Given the description of an element on the screen output the (x, y) to click on. 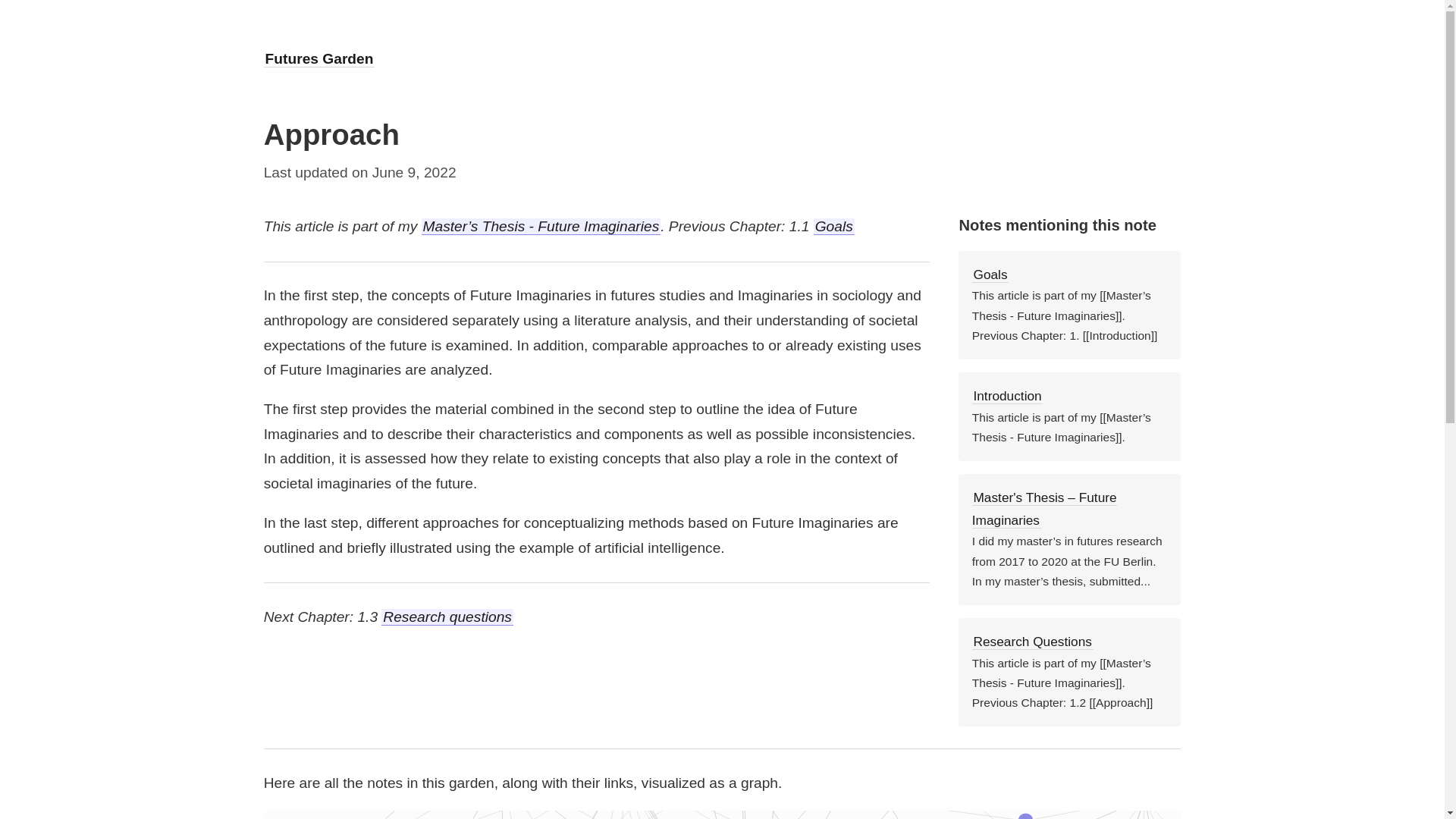
Goals (833, 226)
Introduction (1007, 396)
Goals (990, 274)
Research questions (446, 617)
Futures Garden (319, 58)
